Given the description of an element on the screen output the (x, y) to click on. 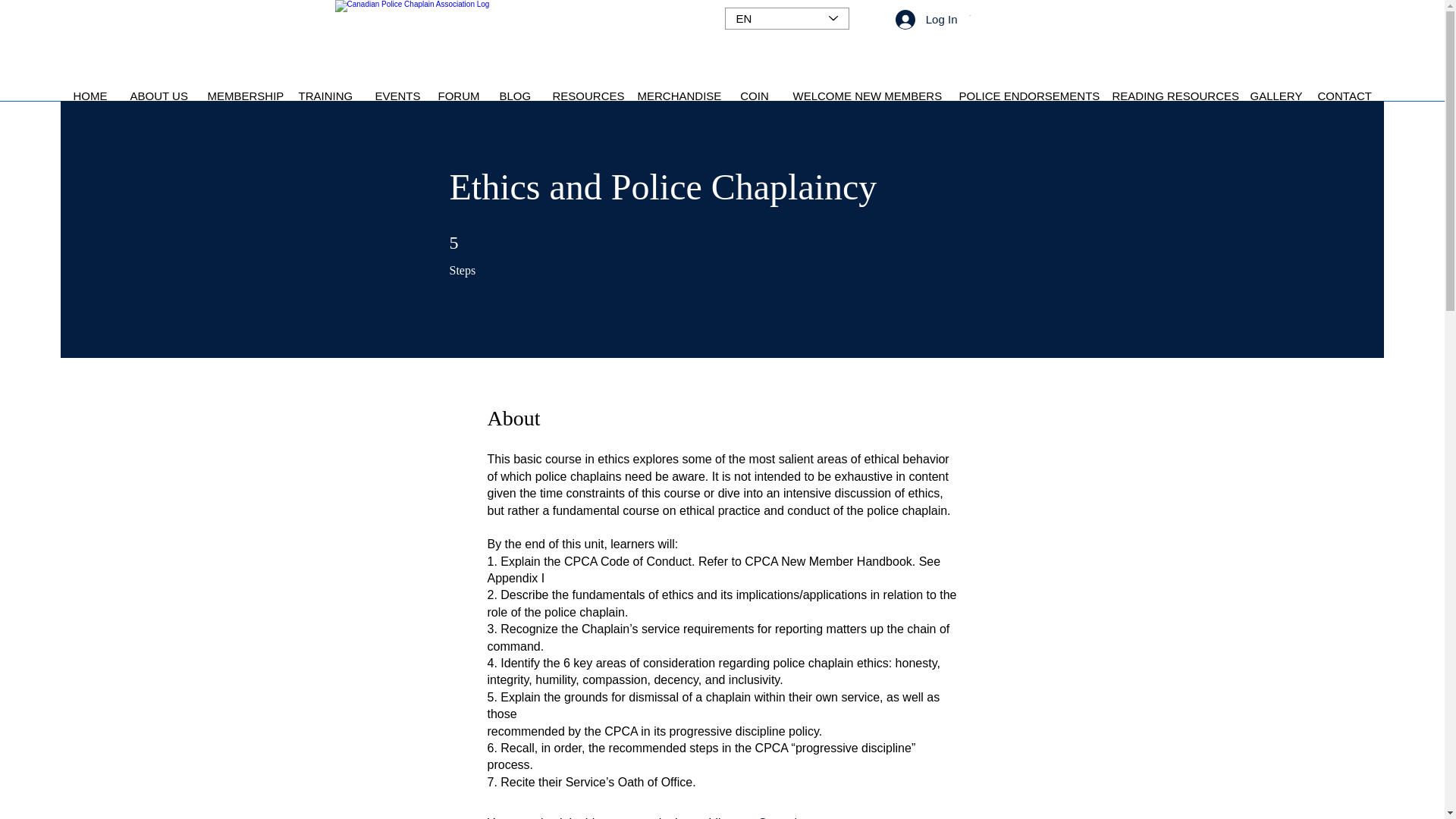
WELCOME NEW MEMBERS (863, 93)
MERCHANDISE (677, 93)
POLICE ENDORSEMENTS (1023, 93)
COIN (754, 93)
Go to the app (794, 817)
BLOG (514, 93)
GALLERY (1272, 93)
CONTACT (1343, 93)
EVENTS (395, 93)
Log In (926, 18)
FORUM (456, 93)
HOME (90, 93)
